Given the description of an element on the screen output the (x, y) to click on. 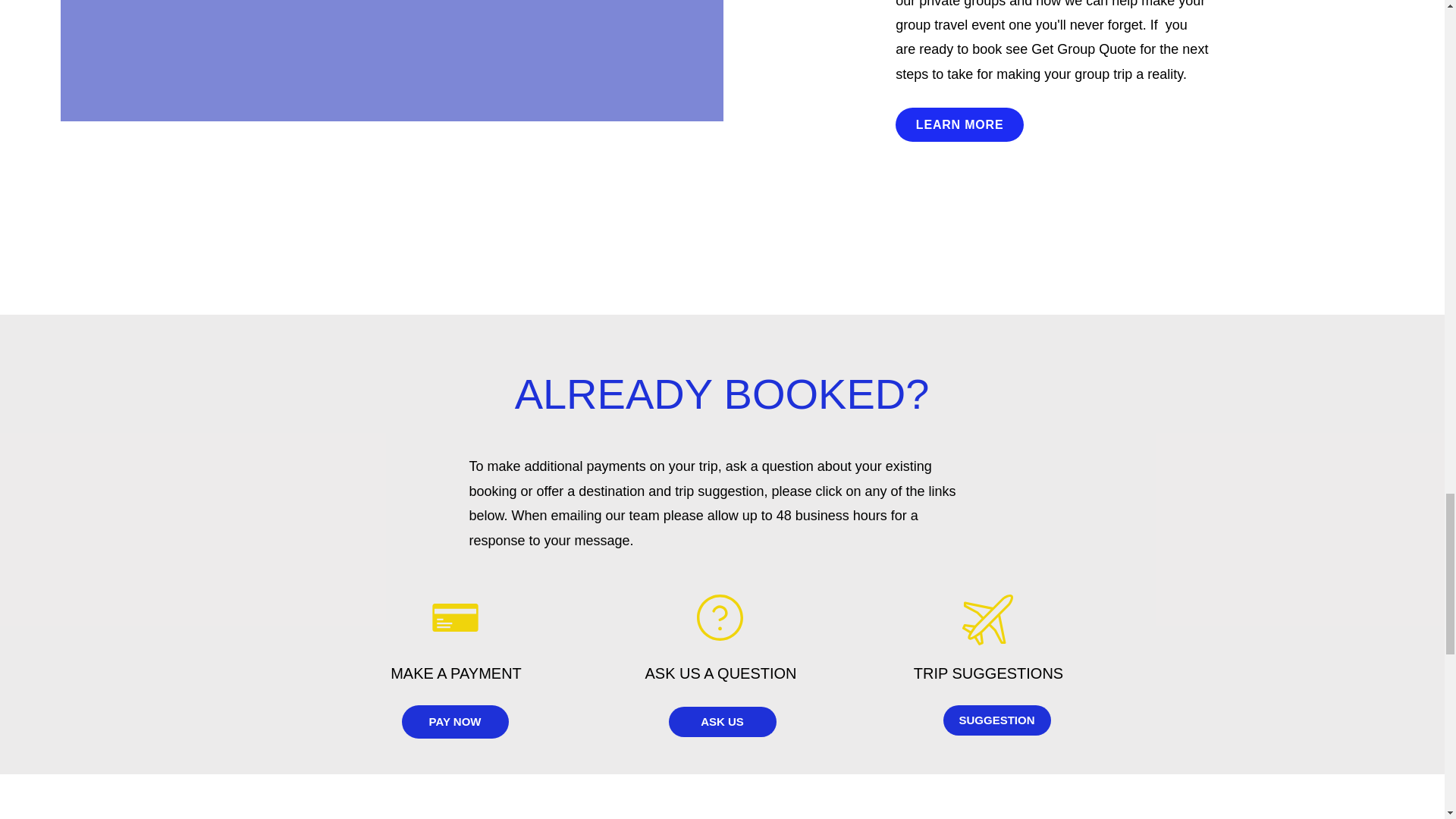
PAY NOW (454, 721)
ASK US (722, 721)
LEARN MORE (959, 124)
SUGGESTION (997, 720)
